Given the description of an element on the screen output the (x, y) to click on. 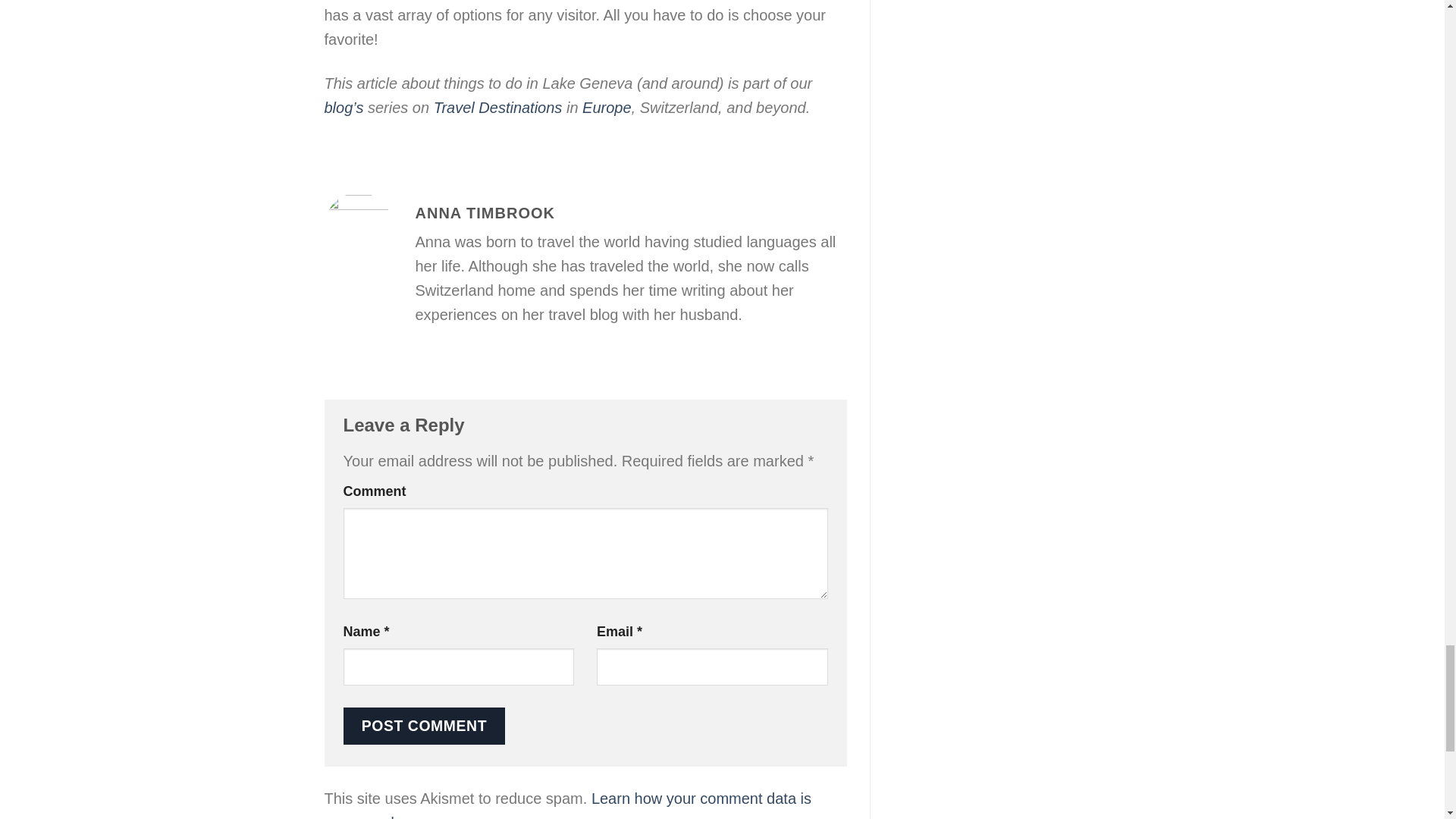
Post Comment (423, 725)
